Given the description of an element on the screen output the (x, y) to click on. 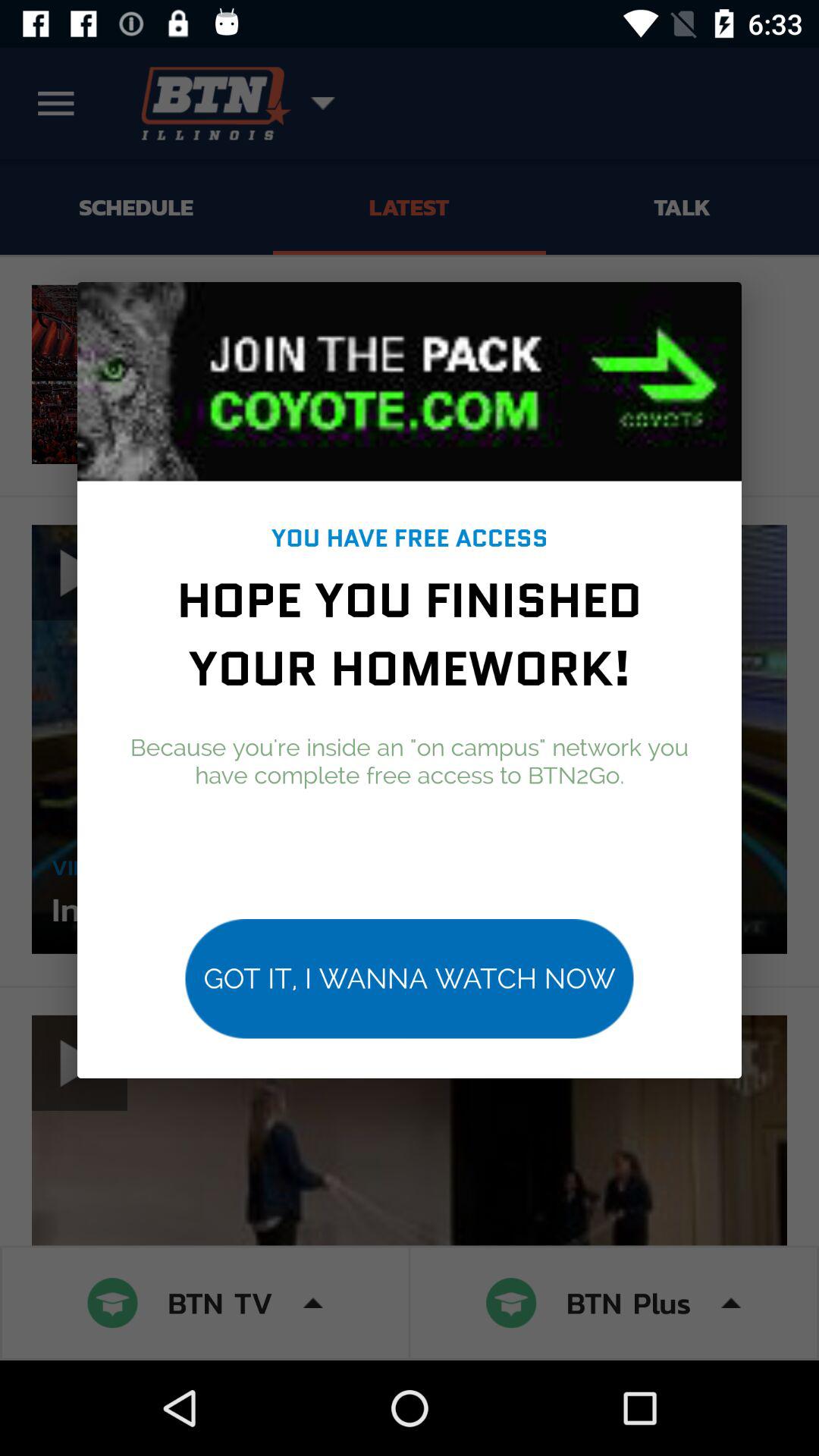
jump to the got it i icon (409, 978)
